Given the description of an element on the screen output the (x, y) to click on. 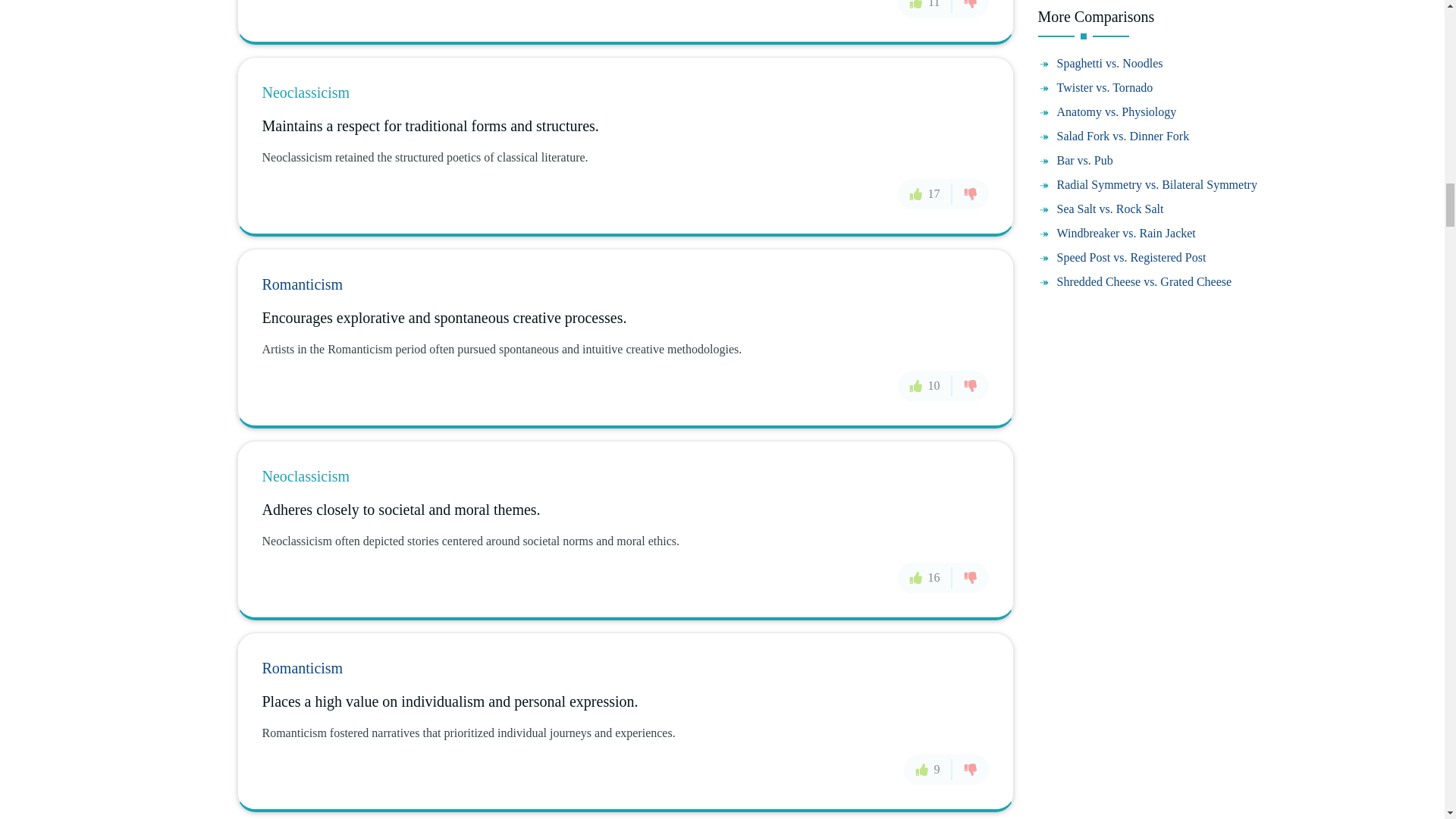
10 (925, 386)
17 (925, 194)
9 (928, 769)
11 (925, 8)
16 (925, 577)
